Given the description of an element on the screen output the (x, y) to click on. 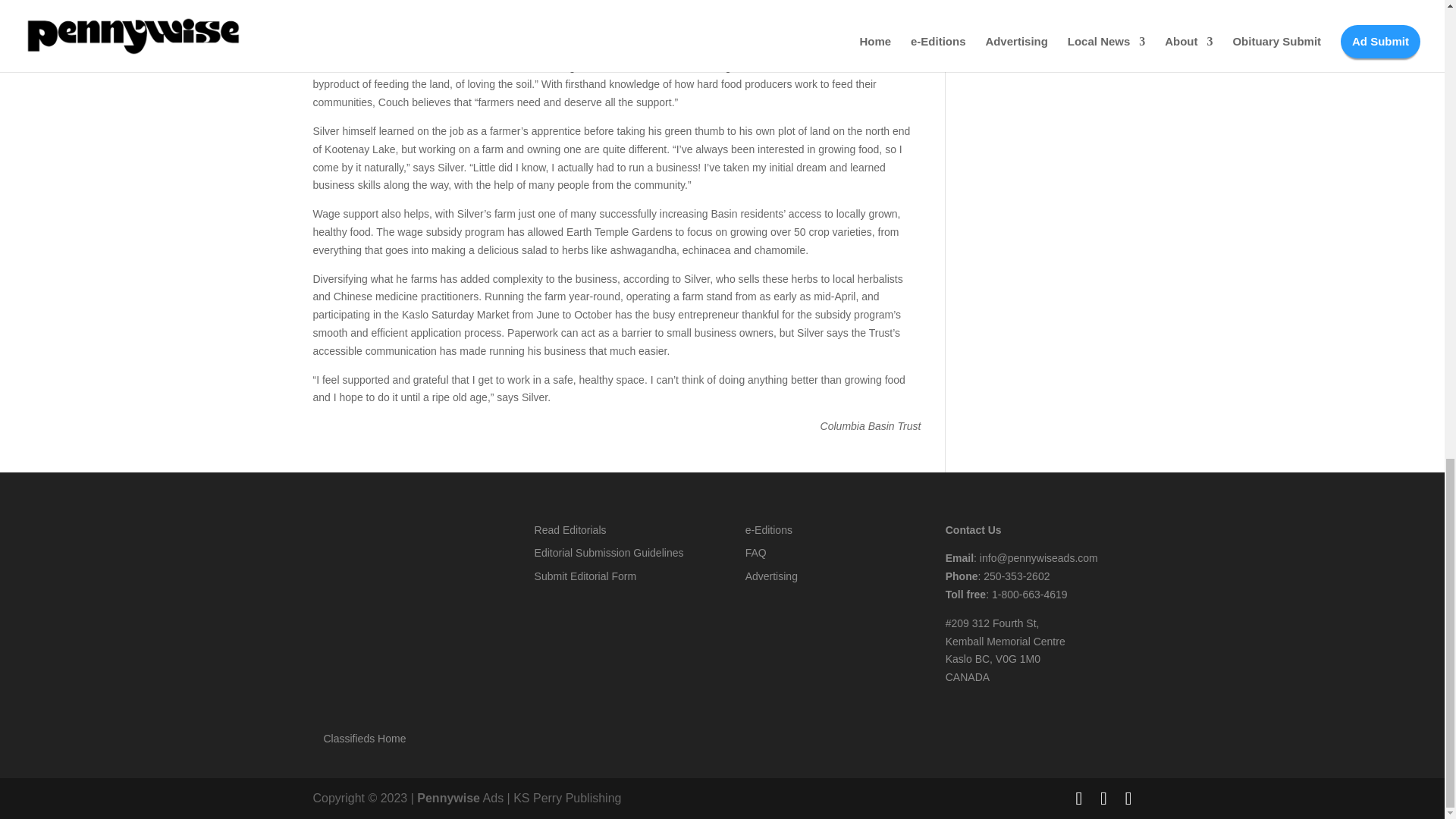
Read Editorials (570, 530)
Editorial Submission Guidelines (609, 552)
Submit Editorial Form (585, 576)
Classifieds Home (364, 738)
FAQ (756, 552)
e-Editions (768, 530)
Advertising (771, 576)
